Given the description of an element on the screen output the (x, y) to click on. 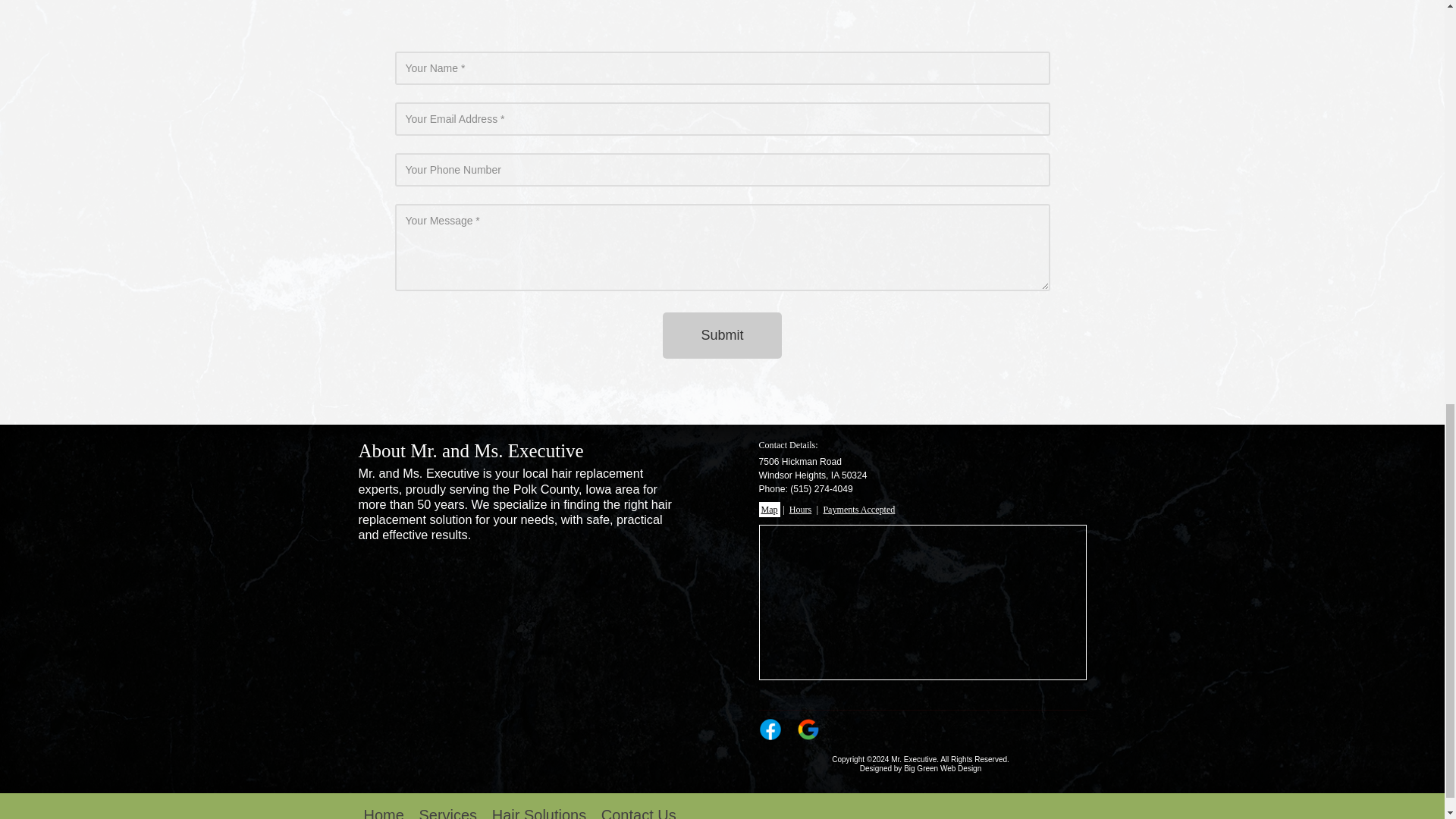
Designed by Big Green Web Design (920, 768)
Map (768, 509)
Submit (721, 478)
Submit (721, 335)
Payments Accepted (858, 509)
Hours (800, 509)
